Given the description of an element on the screen output the (x, y) to click on. 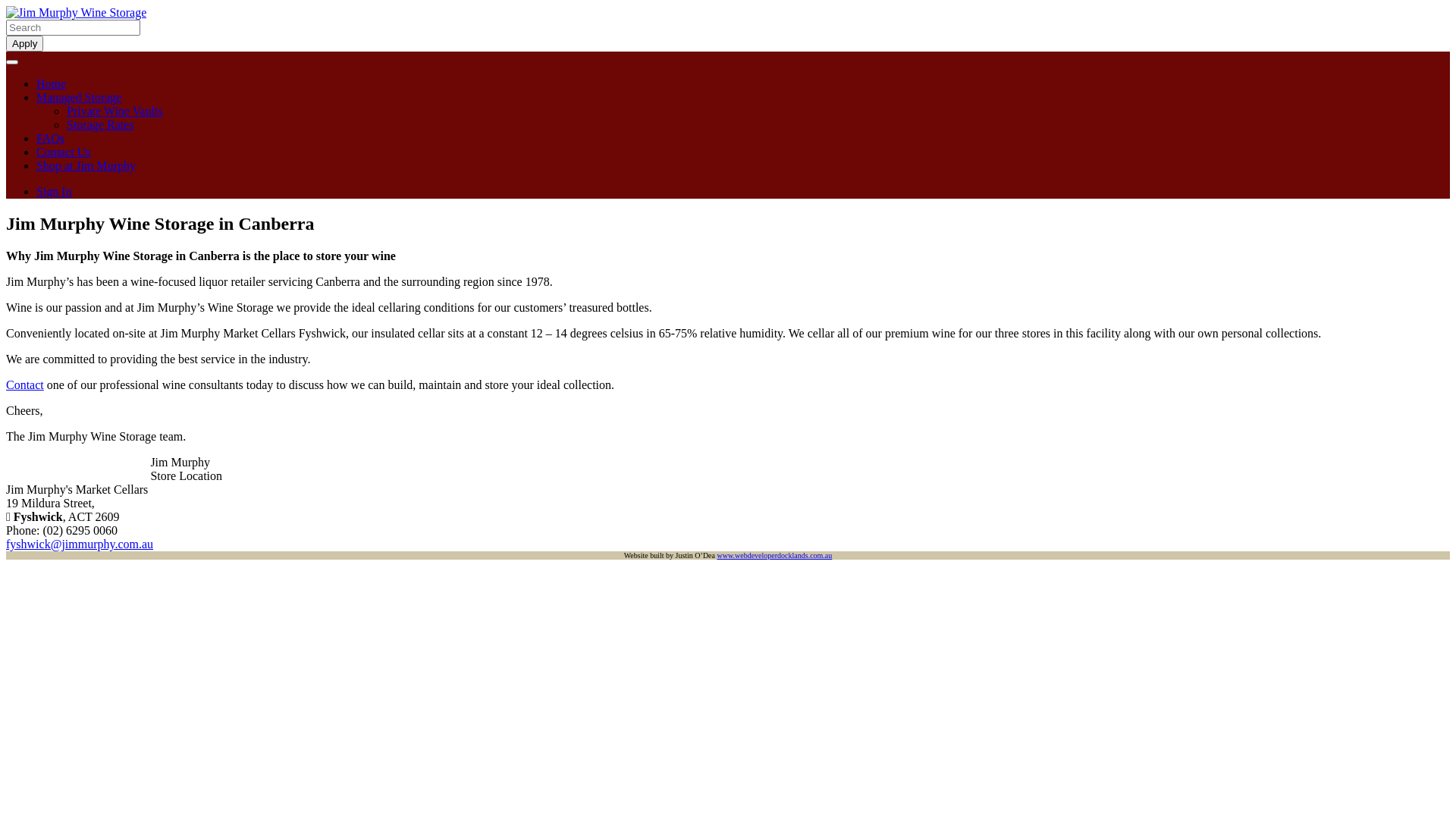
Sign In Element type: text (54, 191)
Home Element type: text (50, 83)
Shop at Jim Murphy Element type: text (85, 165)
Managed Storage Element type: text (78, 97)
Apply Element type: text (24, 43)
FAQs Element type: text (50, 137)
fyshwick@jimmurphy.com.au Element type: text (79, 543)
Contact Element type: text (24, 384)
Private Wine Vaults Element type: text (114, 110)
www.webdeveloperdocklands.com.au Element type: text (773, 555)
Storage Rates Element type: text (99, 124)
Contact Us Element type: text (63, 151)
